Given the description of an element on the screen output the (x, y) to click on. 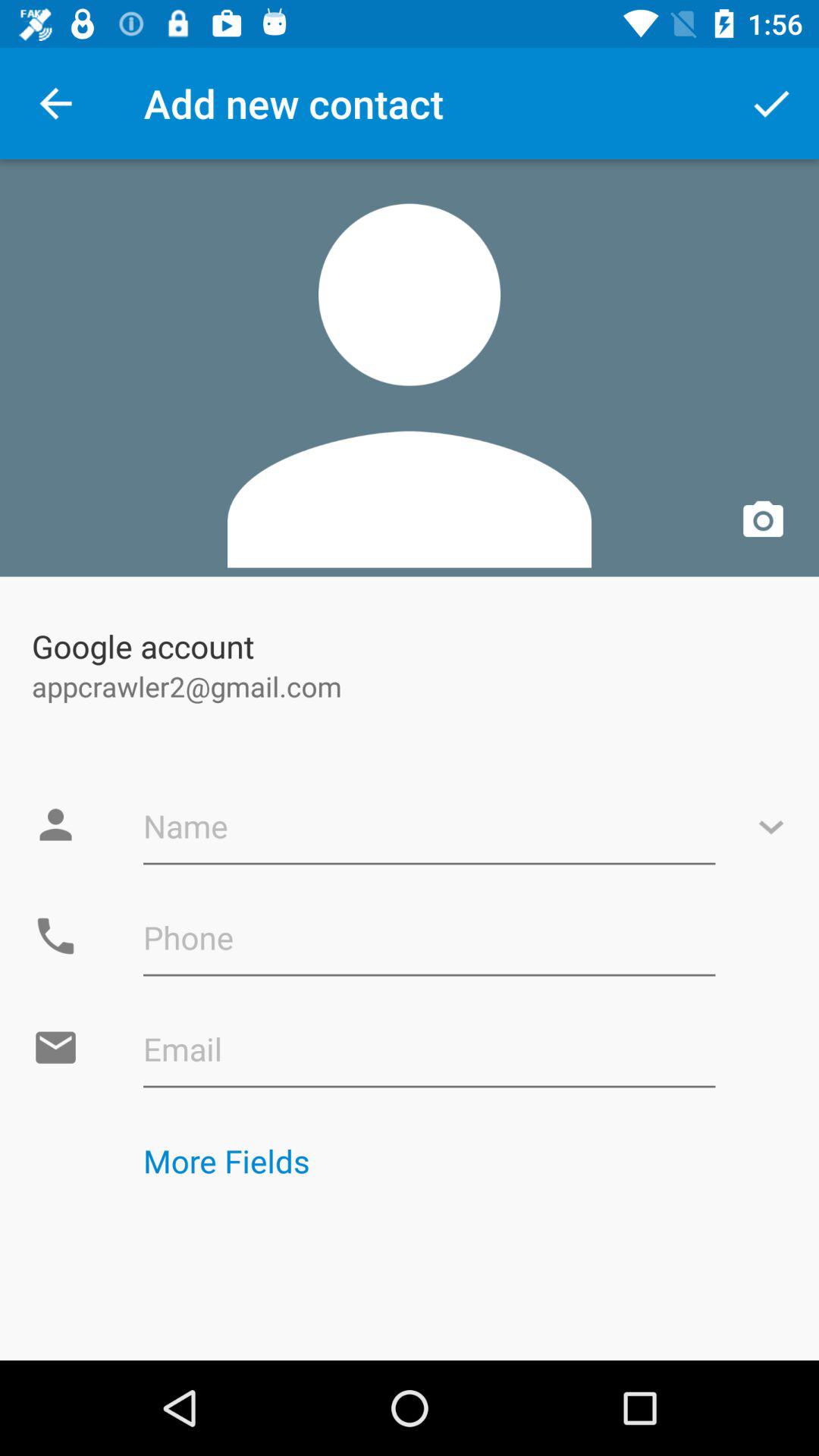
click app to the right of add new contact (771, 103)
